Given the description of an element on the screen output the (x, y) to click on. 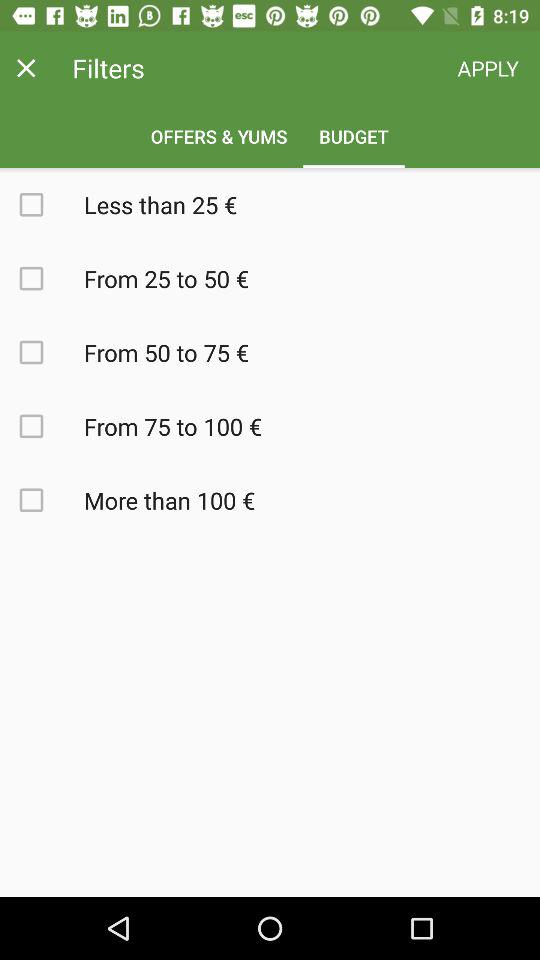
select less than 25 euros (41, 204)
